Given the description of an element on the screen output the (x, y) to click on. 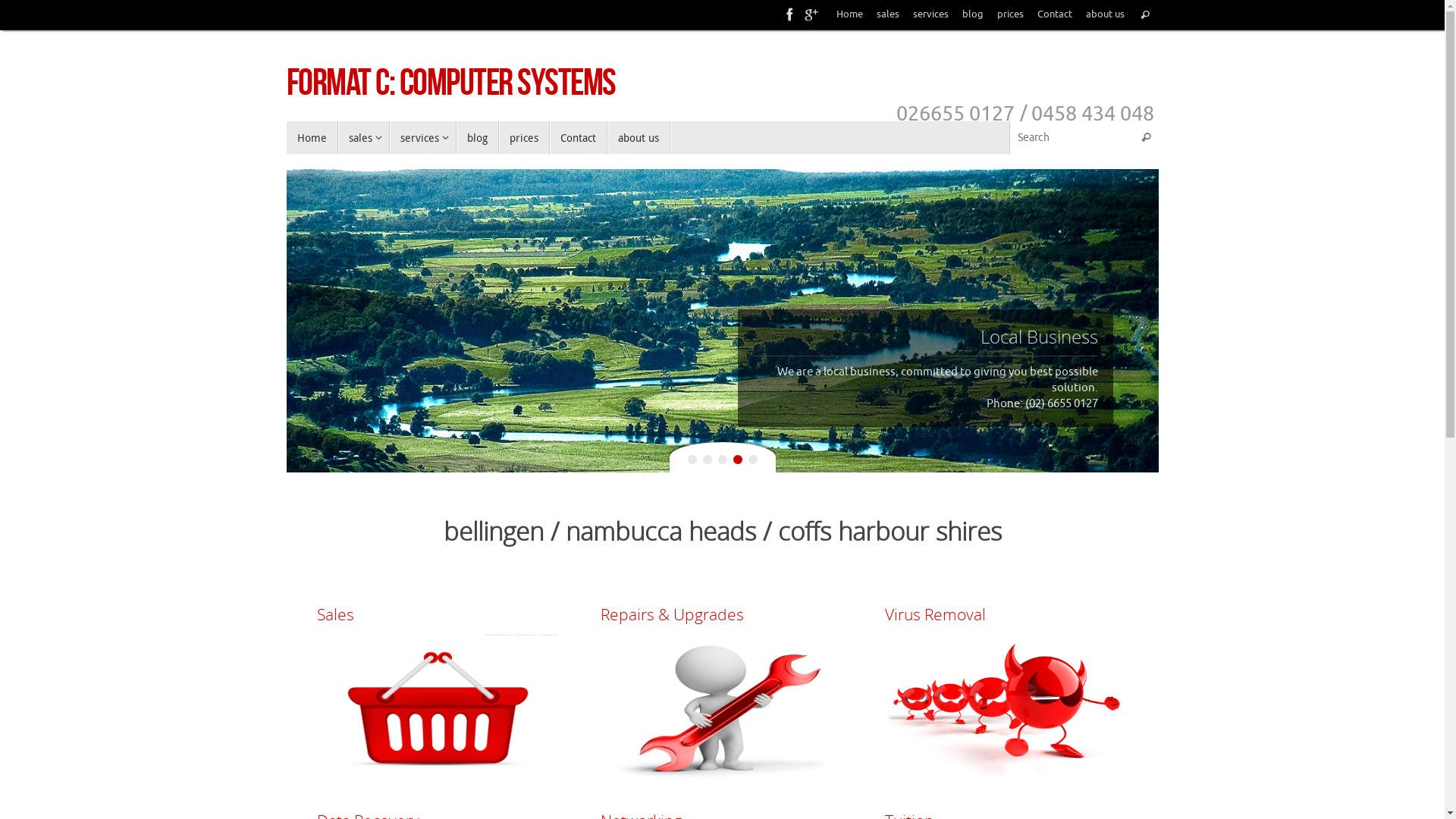
prices Element type: text (1009, 15)
Sales Element type: text (438, 614)
Search Element type: text (1146, 137)
4 Element type: text (736, 459)
about us Element type: text (638, 137)
sales Element type: text (363, 137)
sales Element type: text (887, 15)
GooglePlus Element type: hover (811, 14)
about us Element type: text (1104, 15)
services Element type: text (930, 15)
prices Element type: text (523, 137)
blog Element type: text (477, 137)
blog Element type: text (971, 15)
Facebook Element type: hover (789, 14)
services Element type: text (422, 137)
Home Element type: text (848, 15)
Contact Element type: text (578, 137)
2 Element type: text (706, 459)
Home Element type: text (312, 137)
Skip to content Element type: text (285, 144)
Search Element type: text (1144, 14)
3 Element type: text (721, 459)
Virus Removal Element type: text (1005, 614)
Repairs & Upgrades Element type: text (722, 614)
format c: computer systems Element type: text (450, 81)
Contact Element type: text (1054, 15)
1 Element type: text (691, 459)
5 Element type: text (751, 459)
